Given the description of an element on the screen output the (x, y) to click on. 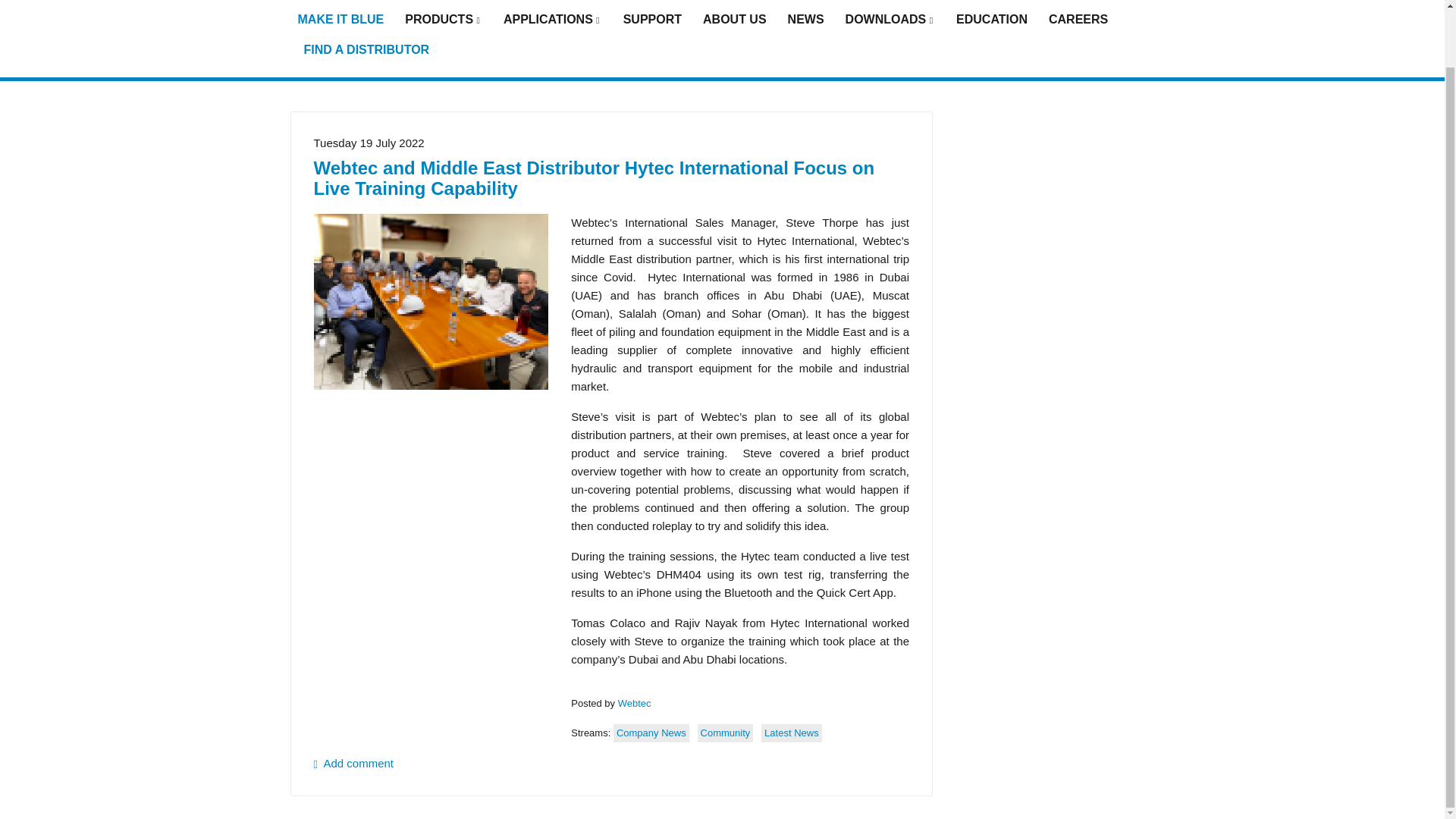
APPLICATIONS   (553, 20)
MAKE IT BLUE (340, 20)
PRODUCTS   (443, 20)
